Given the description of an element on the screen output the (x, y) to click on. 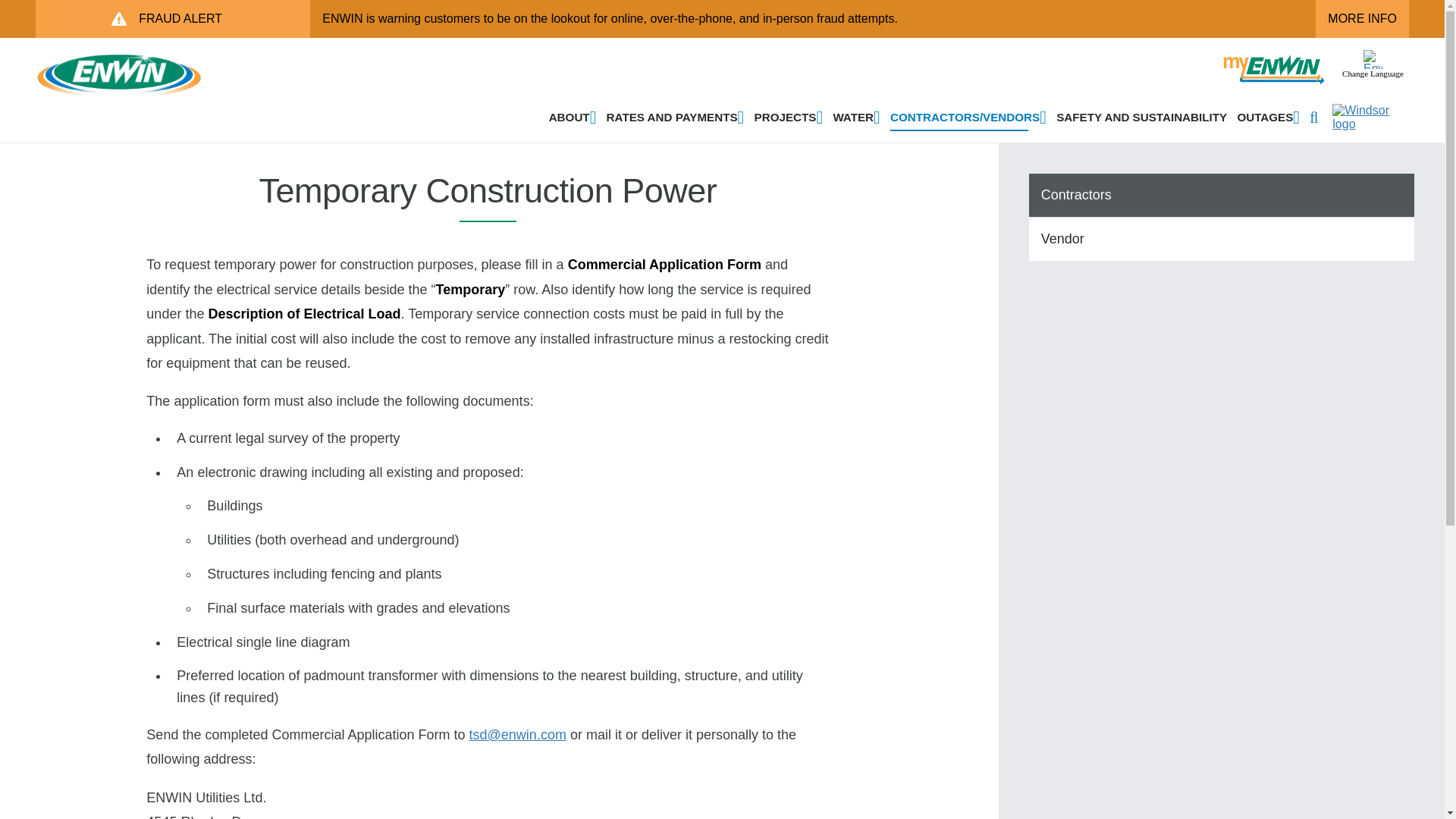
ABOUT (572, 117)
PROJECTS (789, 117)
WATER (855, 117)
ENWIN (54, 104)
SAFETY AND SUSTAINABILITY (1141, 117)
Contact Technical Services Dept. (517, 734)
Image (1371, 58)
Enwin Change Language (1371, 58)
RATES AND PAYMENTS (675, 117)
Change Language (1372, 72)
